Given the description of an element on the screen output the (x, y) to click on. 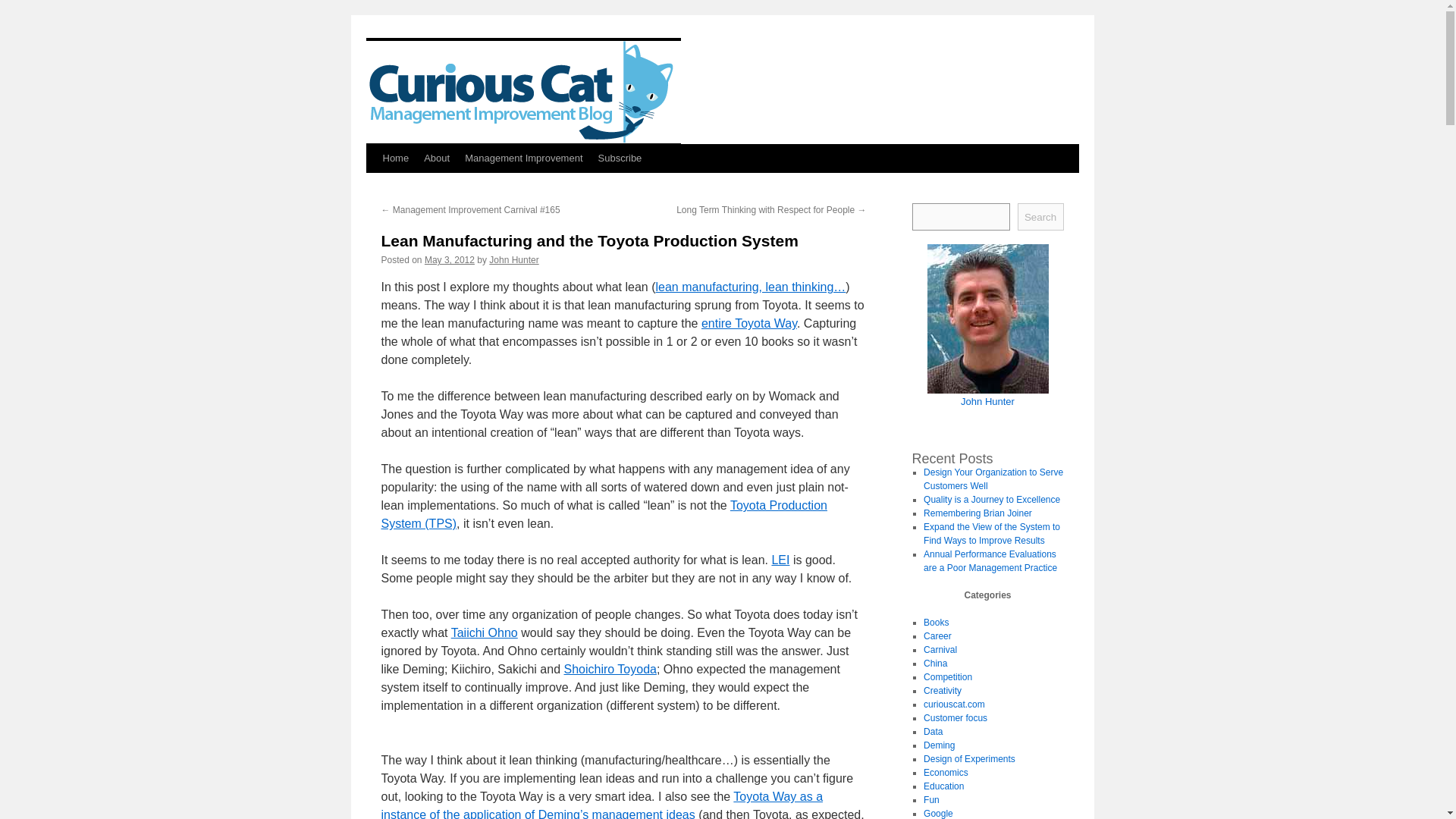
LEI (780, 559)
Shoichiro Toyoda (610, 668)
View all posts by John Hunter (513, 259)
John Hunter (513, 259)
entire Toyota Way (748, 323)
Management Improvement (523, 158)
Subscribe (620, 158)
May 3, 2012 (449, 259)
Home (395, 158)
About (436, 158)
8:56 am (449, 259)
Taiichi Ohno (484, 632)
